Given the description of an element on the screen output the (x, y) to click on. 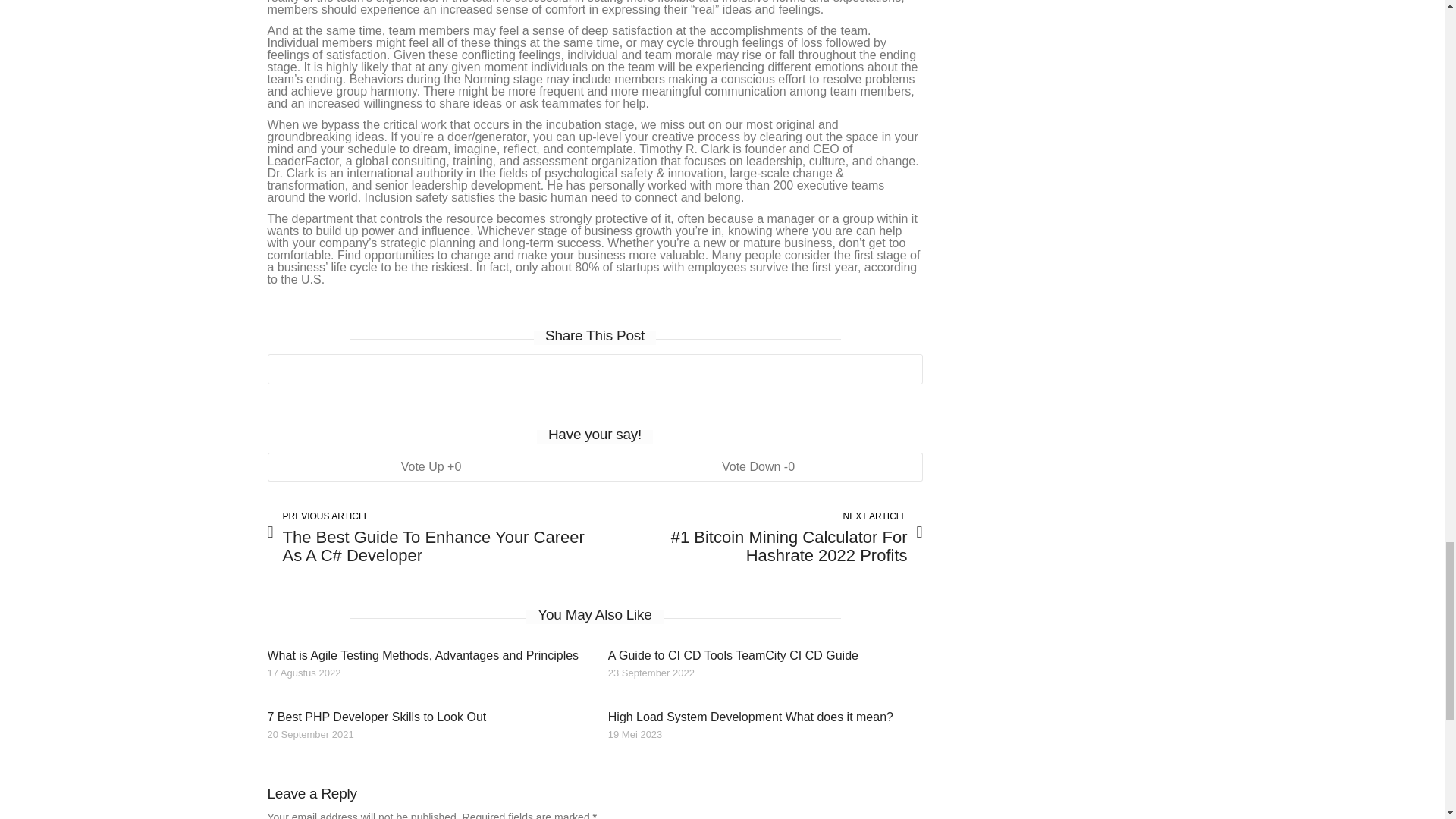
What is Agile Testing Methods, Advantages and Principles (422, 655)
What is Agile Testing Methods, Advantages and Principles (422, 655)
High Load System Development What does it mean? (750, 716)
A Guide to CI CD Tools TeamCity CI CD Guide (733, 655)
A Guide to CI CD Tools TeamCity CI CD Guide (733, 655)
7 Best PHP Developer Skills to Look Out (376, 716)
7 Best PHP Developer Skills to Look Out (376, 716)
High Load System Development What does it mean? (750, 716)
